Given the description of an element on the screen output the (x, y) to click on. 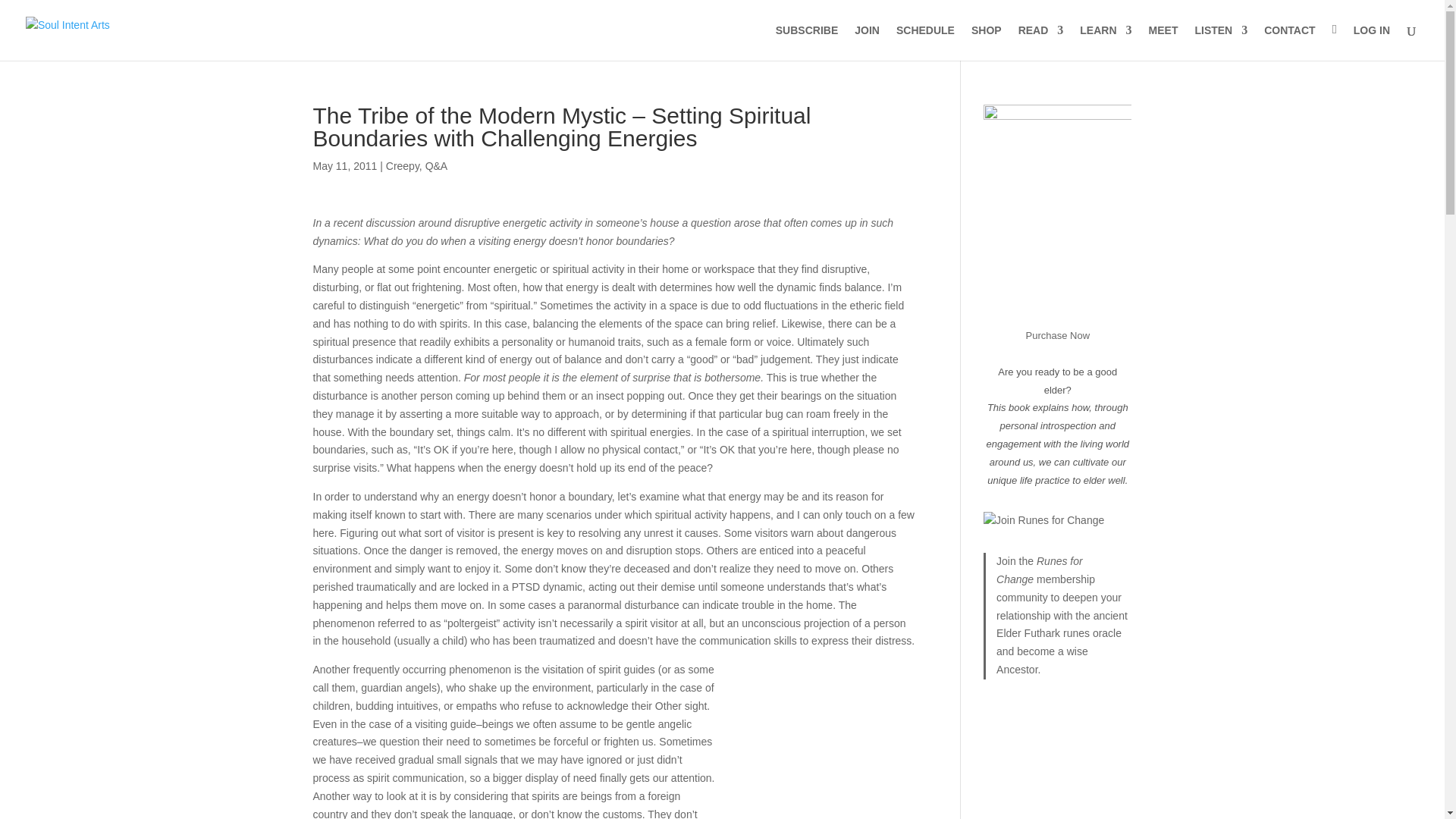
SUBSCRIBE (807, 42)
READ (1040, 42)
Purchase Now (1057, 335)
Creepy (402, 165)
CONTACT (1288, 42)
LEARN (1105, 42)
SCHEDULE (925, 42)
Spirit Visitors (816, 744)
What in the Wyrd Podcast (1220, 42)
 Runes for Change  (1039, 570)
